Given the description of an element on the screen output the (x, y) to click on. 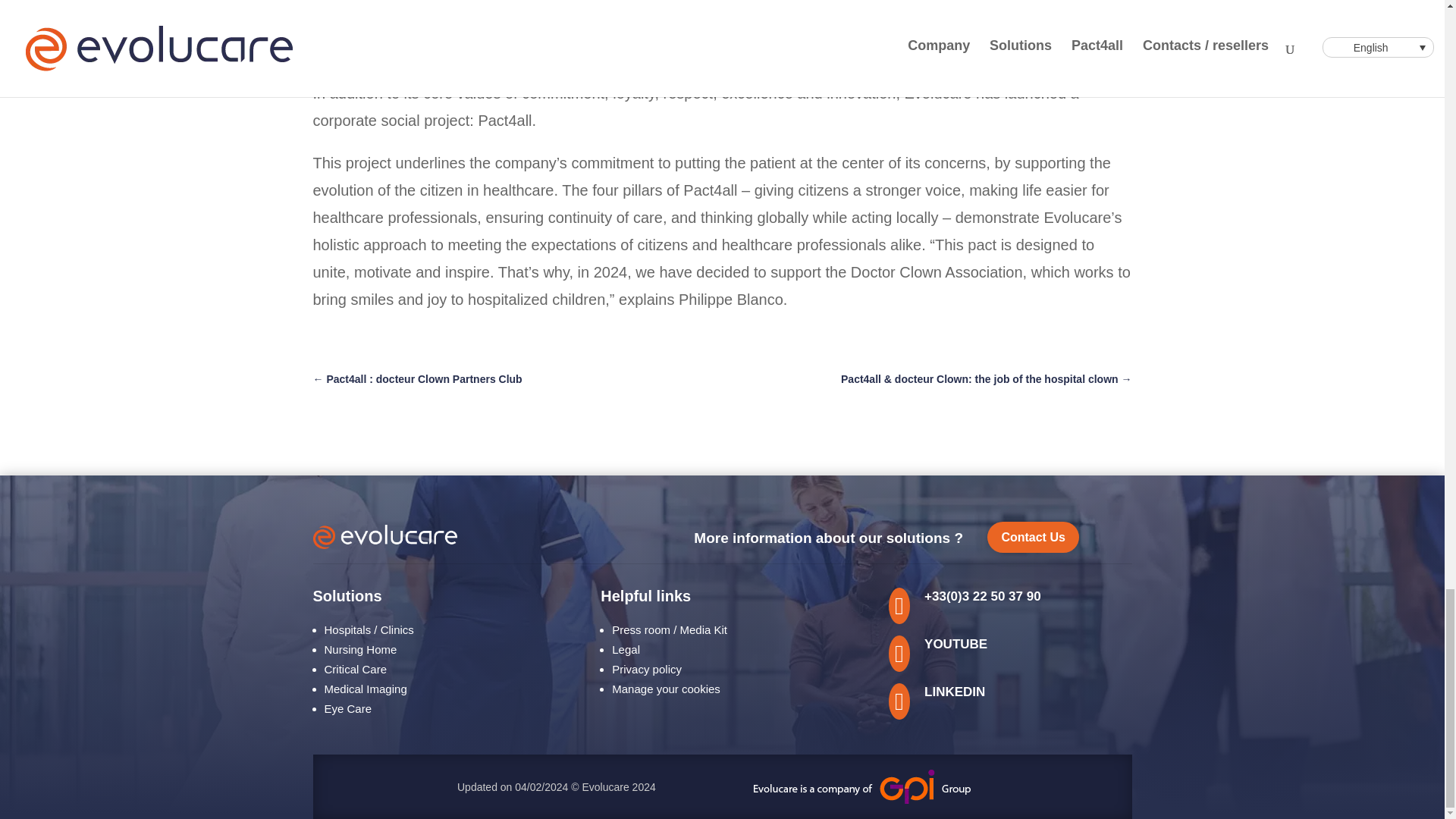
Contact Us (1032, 536)
Nursing Home (360, 649)
